Given the description of an element on the screen output the (x, y) to click on. 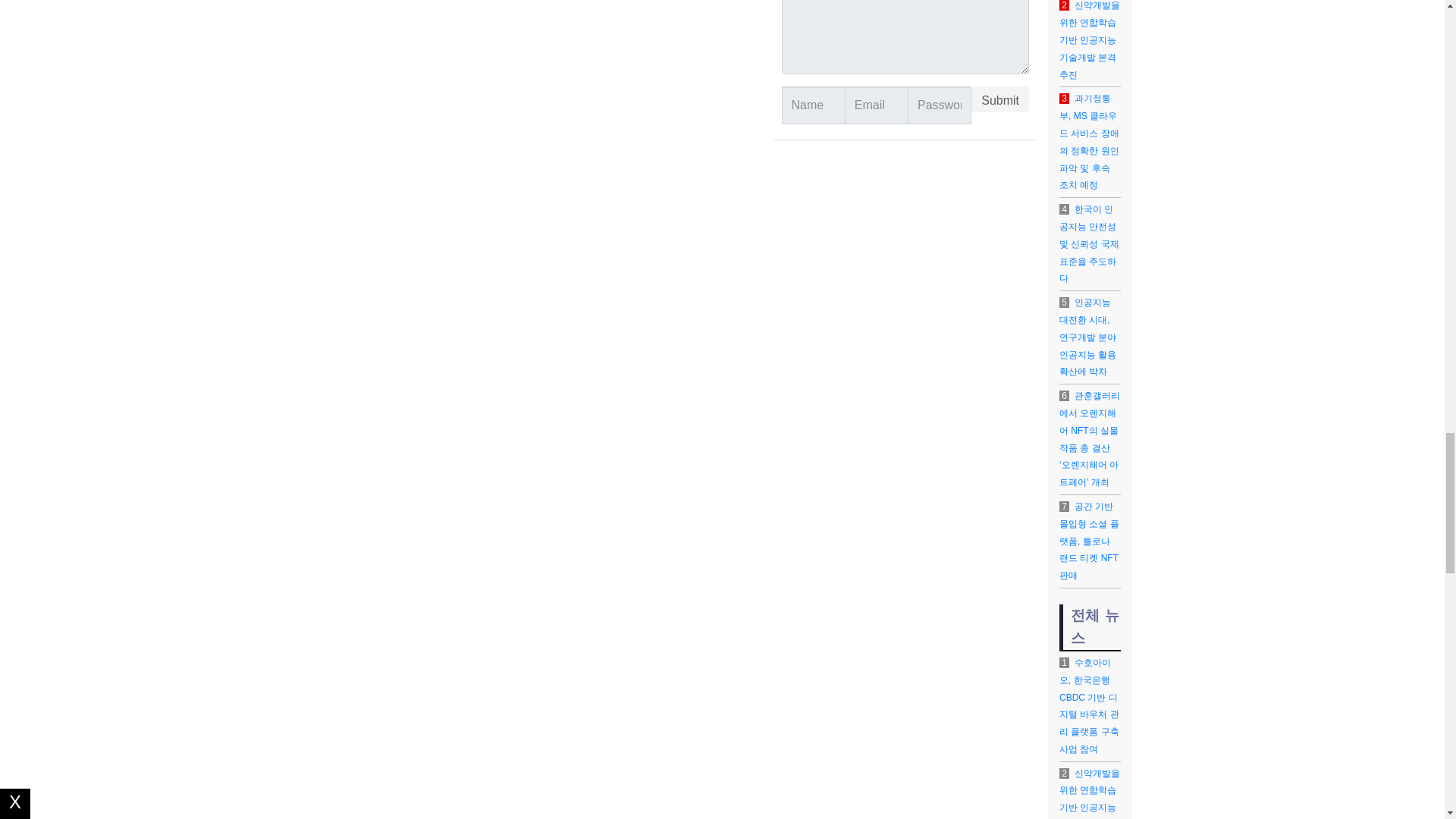
Submit (1000, 99)
